Given the description of an element on the screen output the (x, y) to click on. 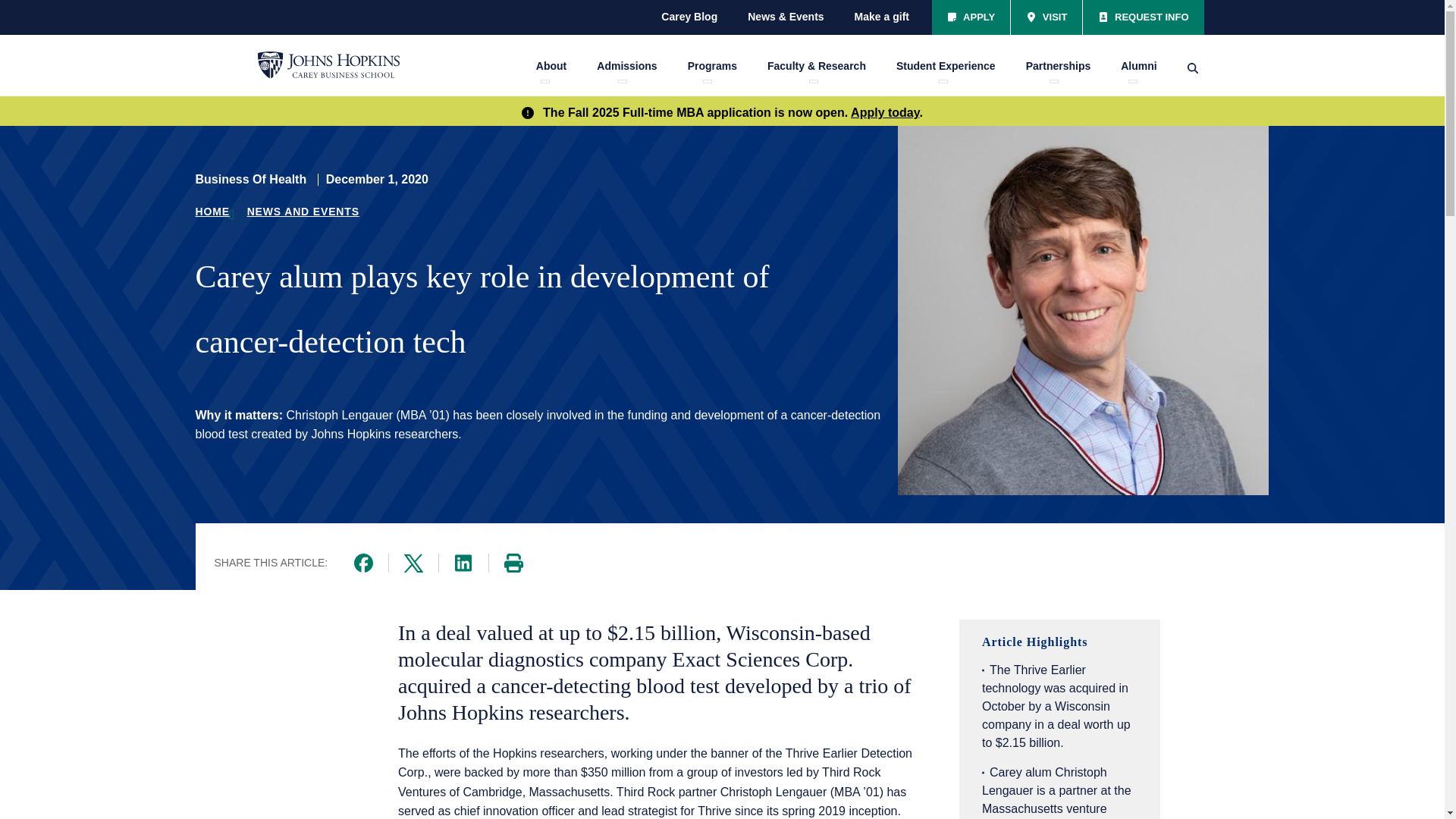
Home (327, 65)
Programs (711, 66)
Carey Blog (689, 17)
About (550, 66)
Make a gift (882, 17)
REQUEST INFO (1143, 17)
Admissions (626, 66)
VISIT (1045, 17)
APPLY (970, 17)
